Given the description of an element on the screen output the (x, y) to click on. 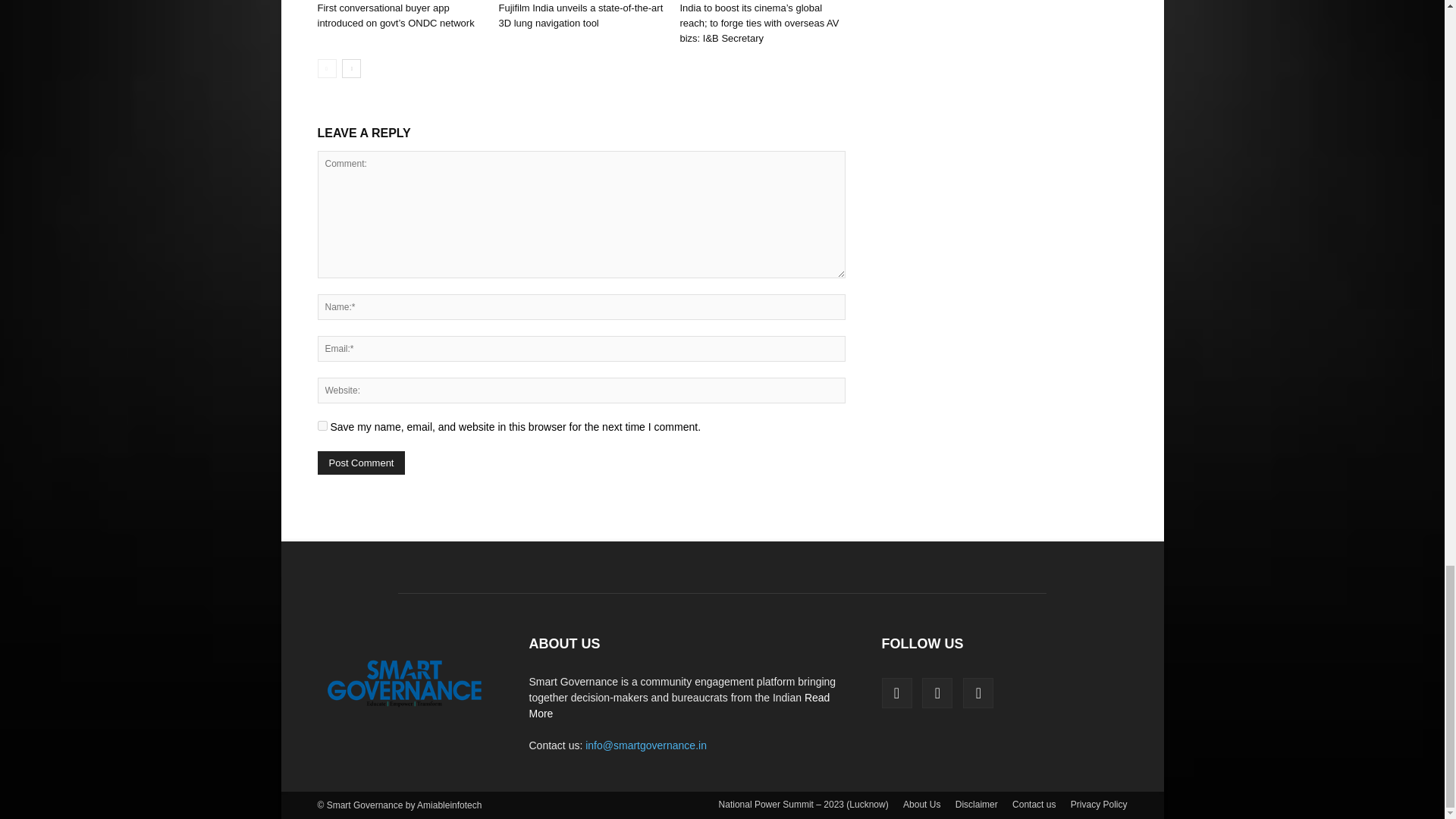
yes (321, 425)
Post Comment (360, 463)
